Given the description of an element on the screen output the (x, y) to click on. 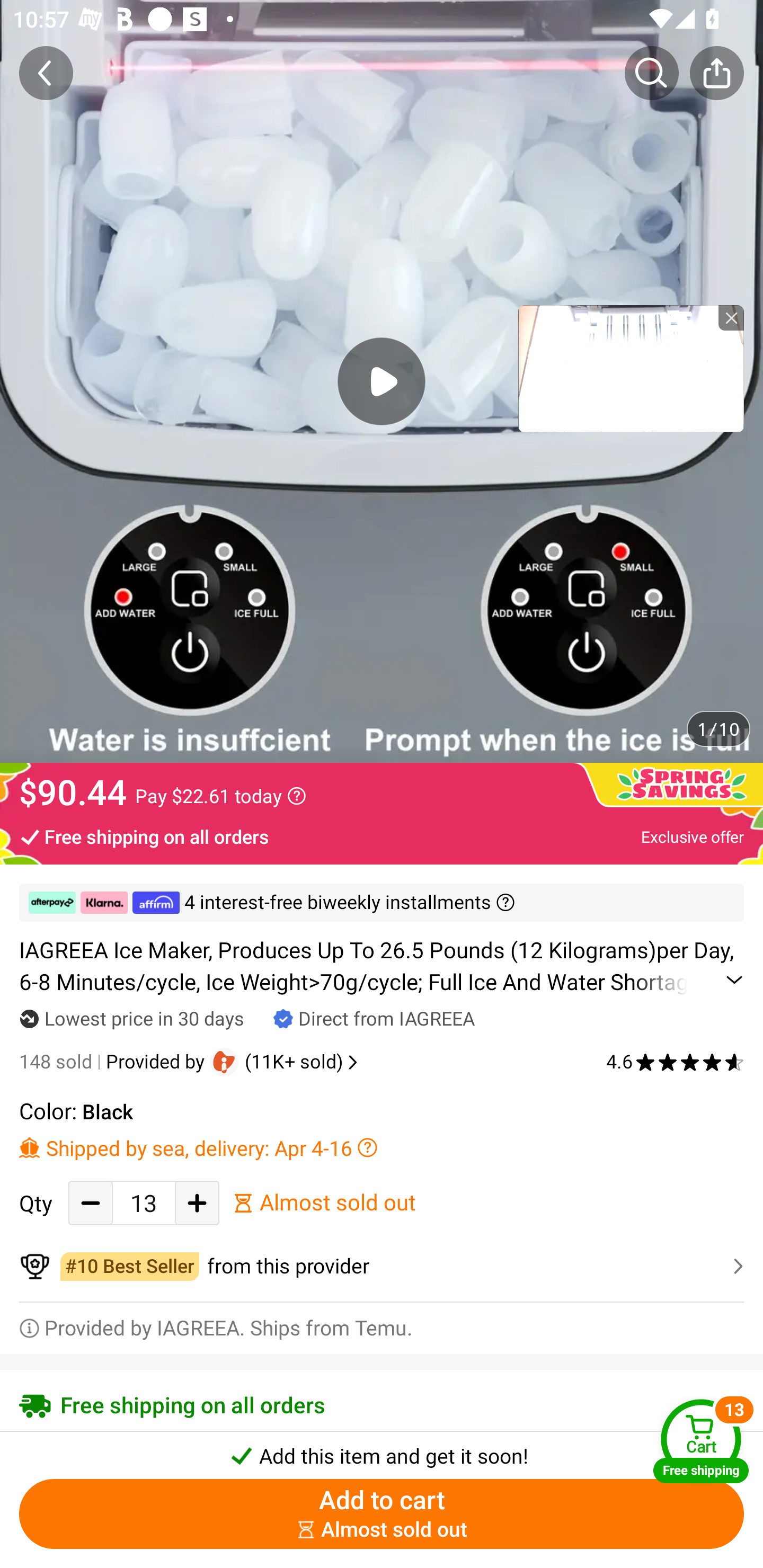
Back (46, 72)
Share (716, 72)
tronplayer_view (631, 368)
Pay $22.61 today   (220, 795)
Free shipping on all orders Exclusive offer (381, 836)
￼ ￼ ￼ 4 interest-free biweekly installments ￼ (381, 902)
148 sold Provided by  (114, 1061)
4.6 (674, 1061)
Shipped by sea, delivery: Apr 4-16 (381, 1147)
Decrease Quantity Button (90, 1202)
13 (143, 1202)
Add Quantity button (196, 1202)
￼￼from this provider (381, 1265)
Cart Free shipping Cart (701, 1440)
￼￼Add this item and get it soon!  (381, 1450)
Add to cart ￼￼Almost sold out (381, 1513)
